Given the description of an element on the screen output the (x, y) to click on. 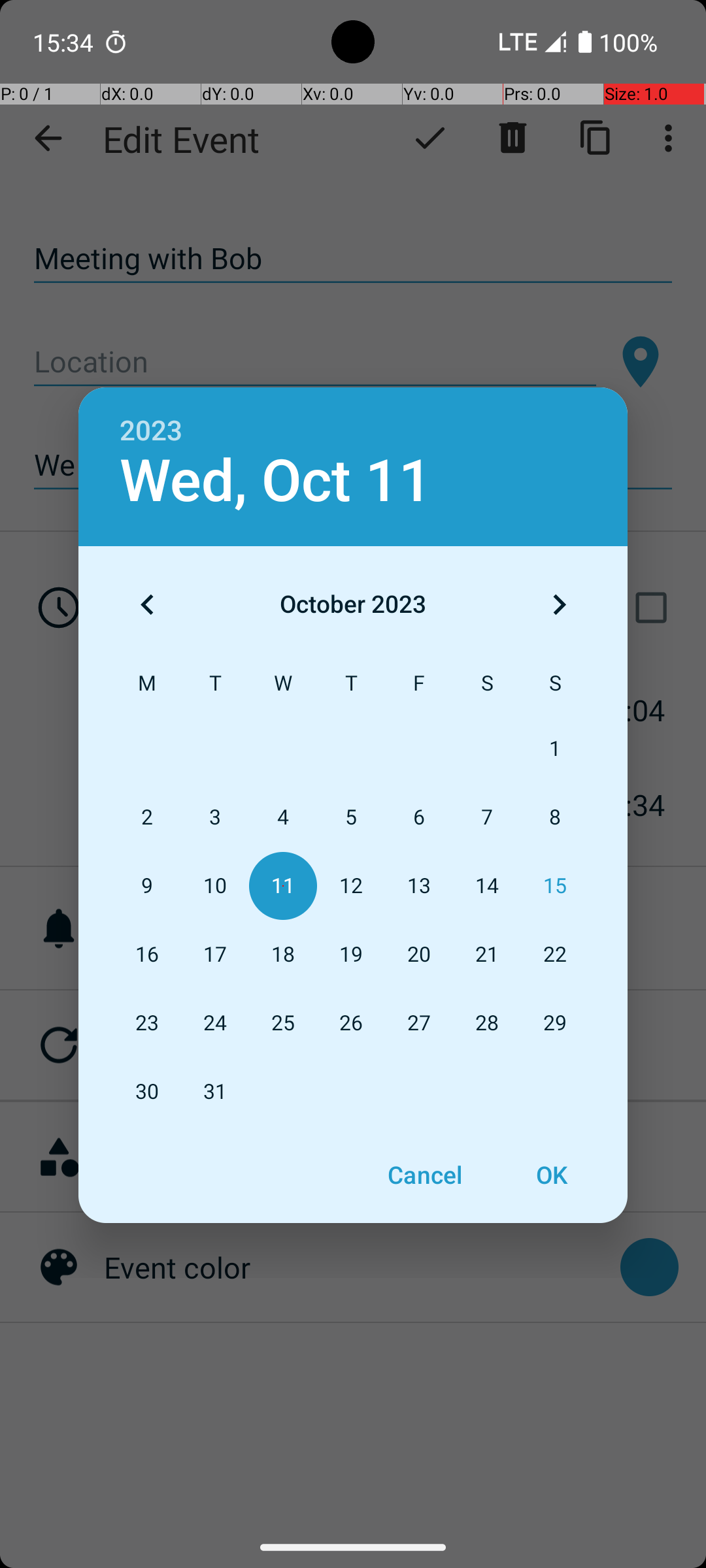
Wed, Oct 11 Element type: android.widget.TextView (275, 480)
